Given the description of an element on the screen output the (x, y) to click on. 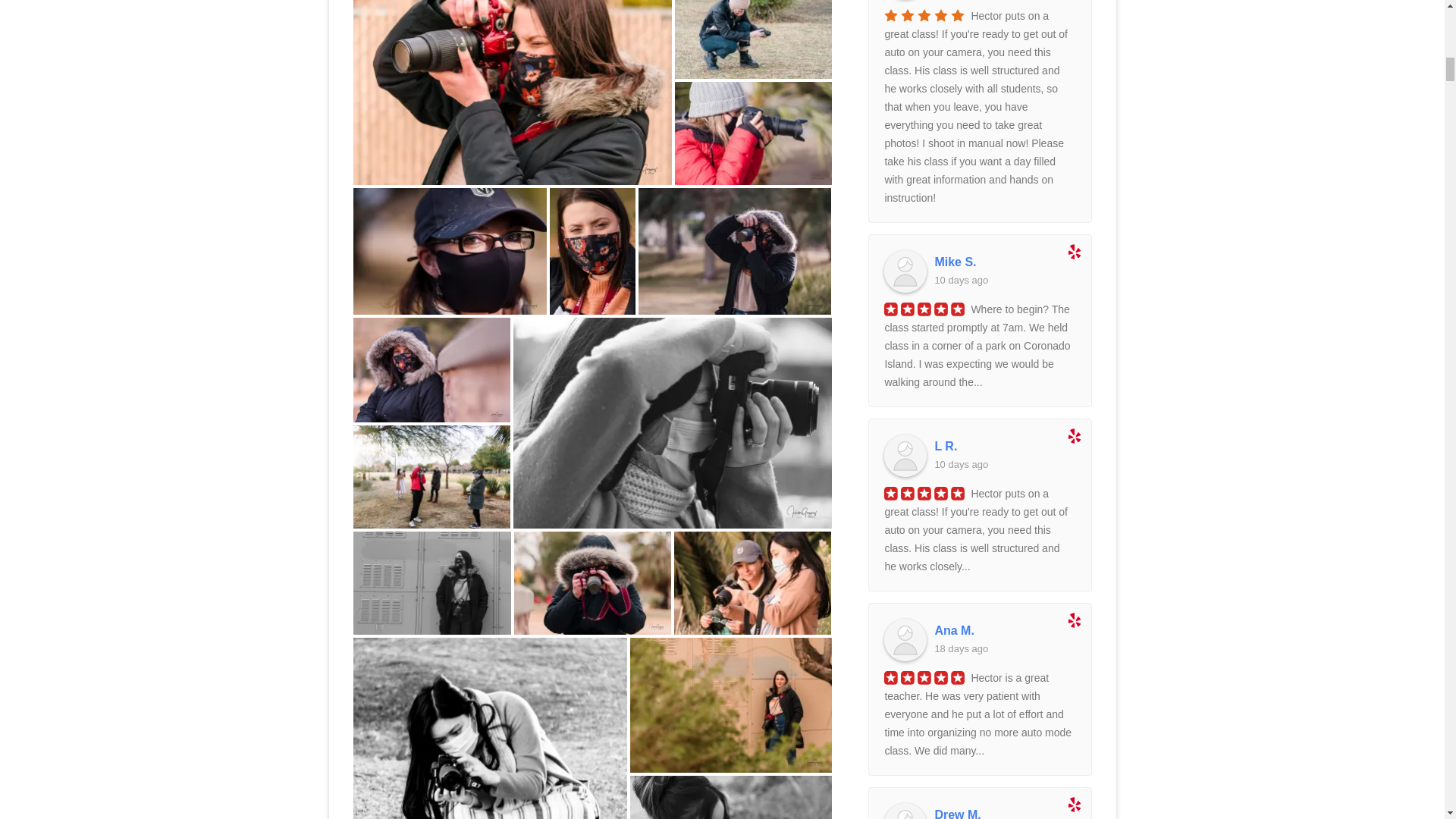
Vegas 20210123-168 (753, 133)
Vegas 20210123-167 (753, 39)
Vegas 20210123-169 (450, 251)
Vegas 20210123-166 (512, 92)
